Given the description of an element on the screen output the (x, y) to click on. 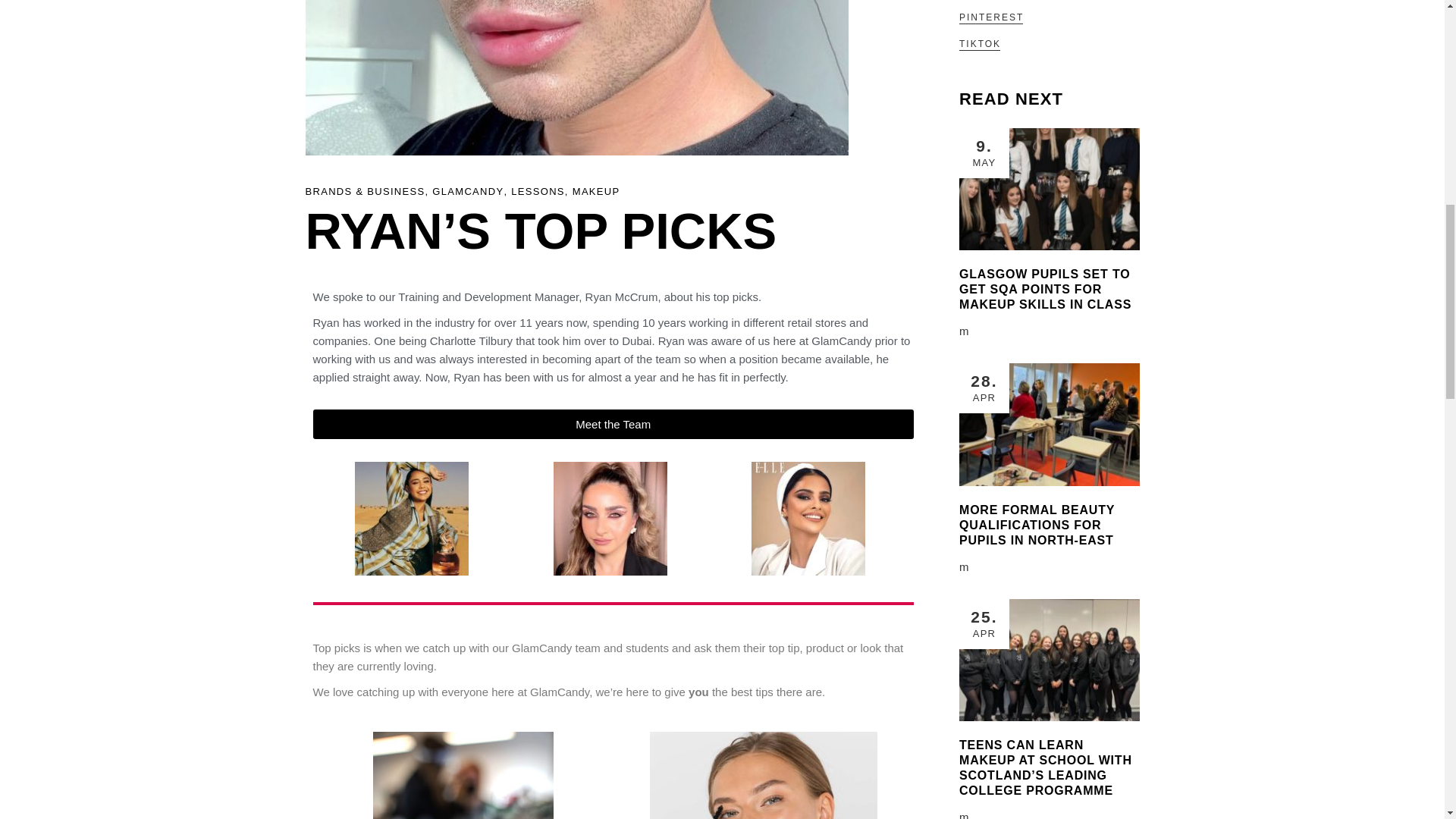
Ryan's Top Picks GlamCandy (462, 775)
Ryan's Top Picks GlamCandy (807, 518)
Ryan's Top Picks GlamCandy (411, 518)
Ryan's Top Picks GlamCandy (763, 775)
Ryan's Top Picks GlamCandy (609, 518)
Ryan's Top Picks GlamCandy (575, 77)
